Given the description of an element on the screen output the (x, y) to click on. 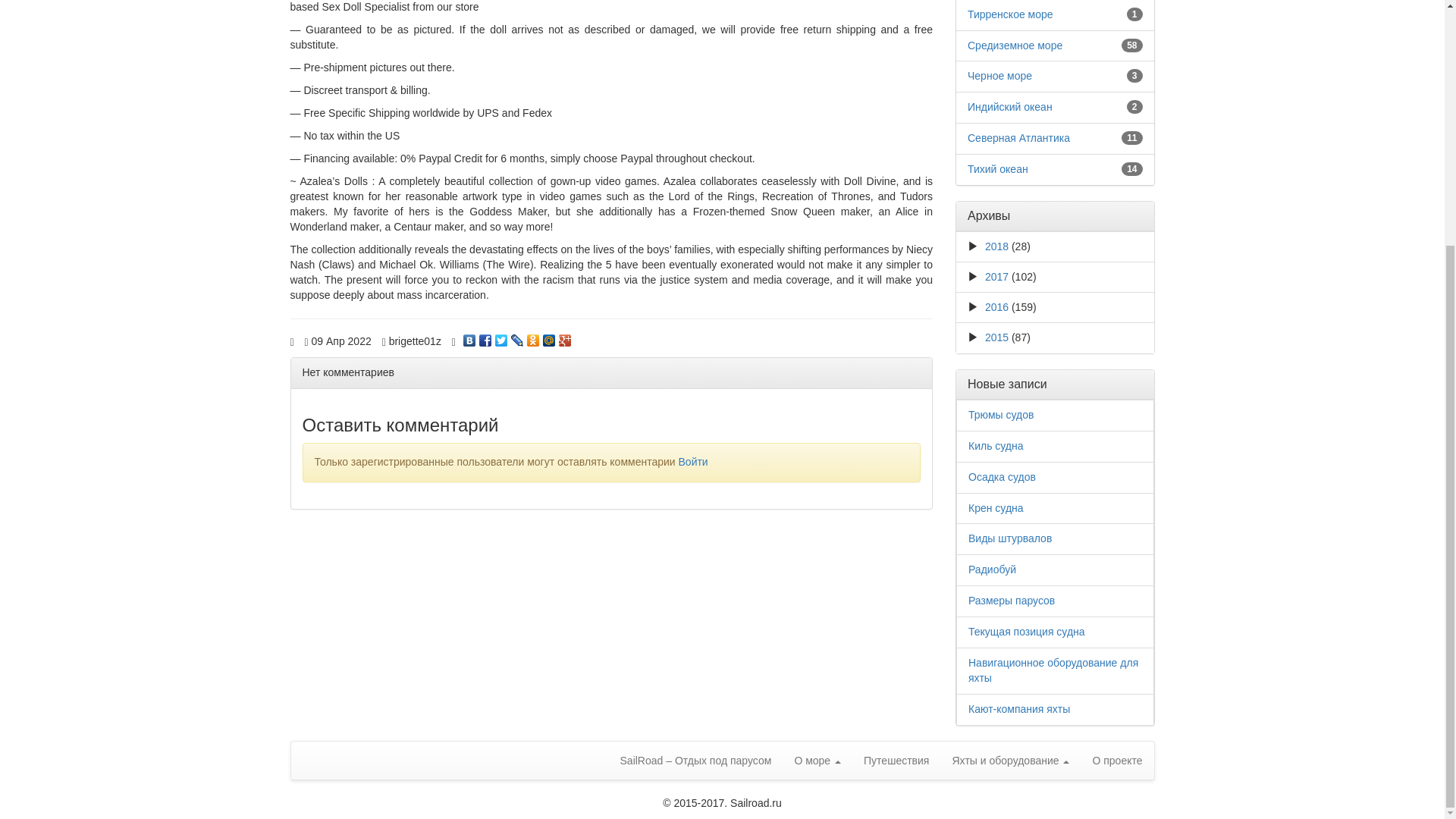
LiveJournal (517, 336)
Twitter (501, 336)
Facebook (485, 336)
Google Plus (565, 336)
